Given the description of an element on the screen output the (x, y) to click on. 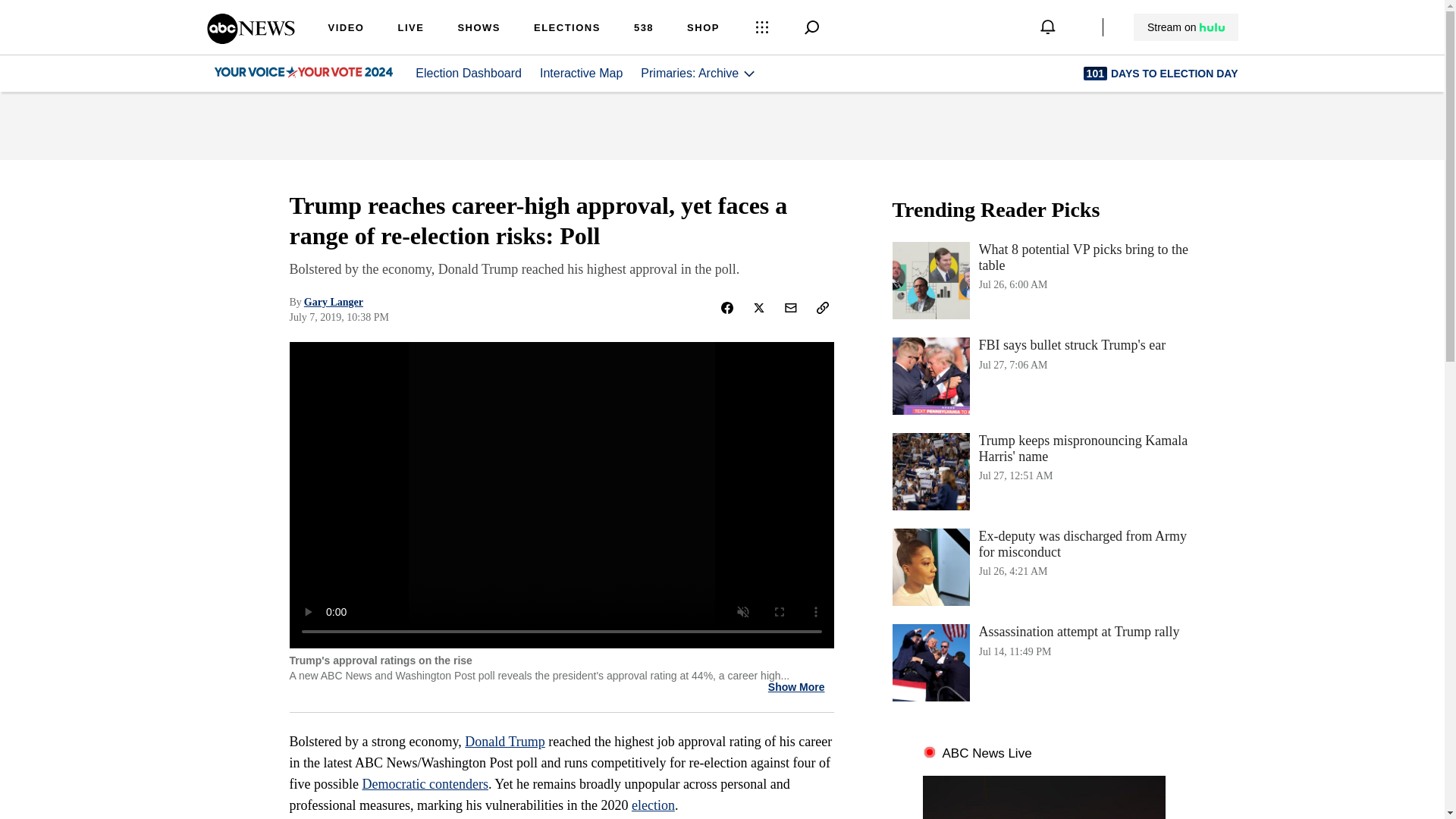
538 (1043, 280)
Donald Trump (643, 28)
Interactive Map (504, 741)
ABC News (581, 73)
Primaries: Archive (250, 38)
LIVE (698, 73)
VIDEO: Trump's approval ratings on the rise (410, 28)
VIDEO (796, 686)
Gary Langer (345, 28)
ELECTIONS (333, 301)
Election Dashboard (566, 28)
Stream on (467, 73)
